Given the description of an element on the screen output the (x, y) to click on. 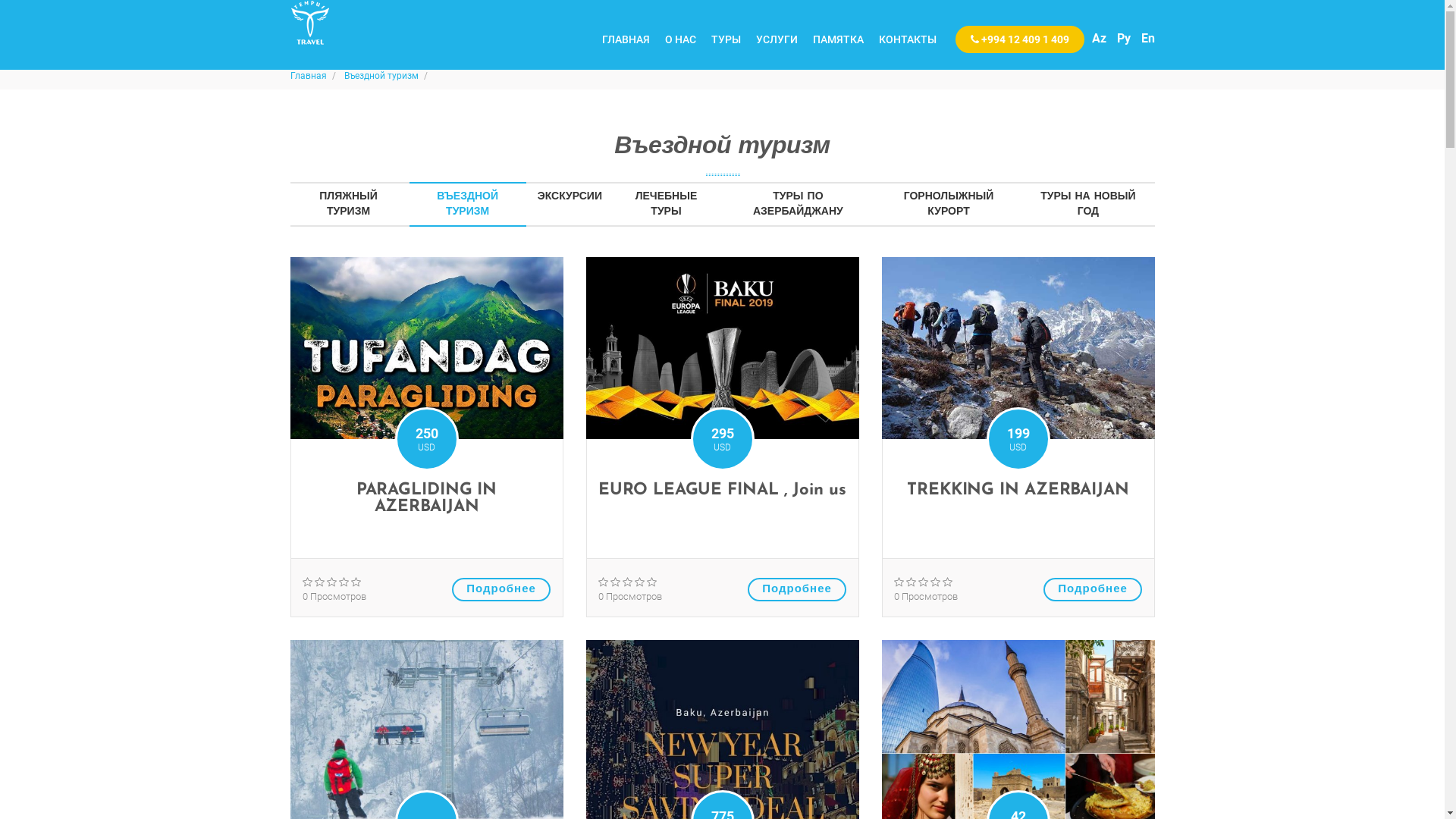
Az Element type: text (1099, 37)
En Element type: text (1147, 37)
